Given the description of an element on the screen output the (x, y) to click on. 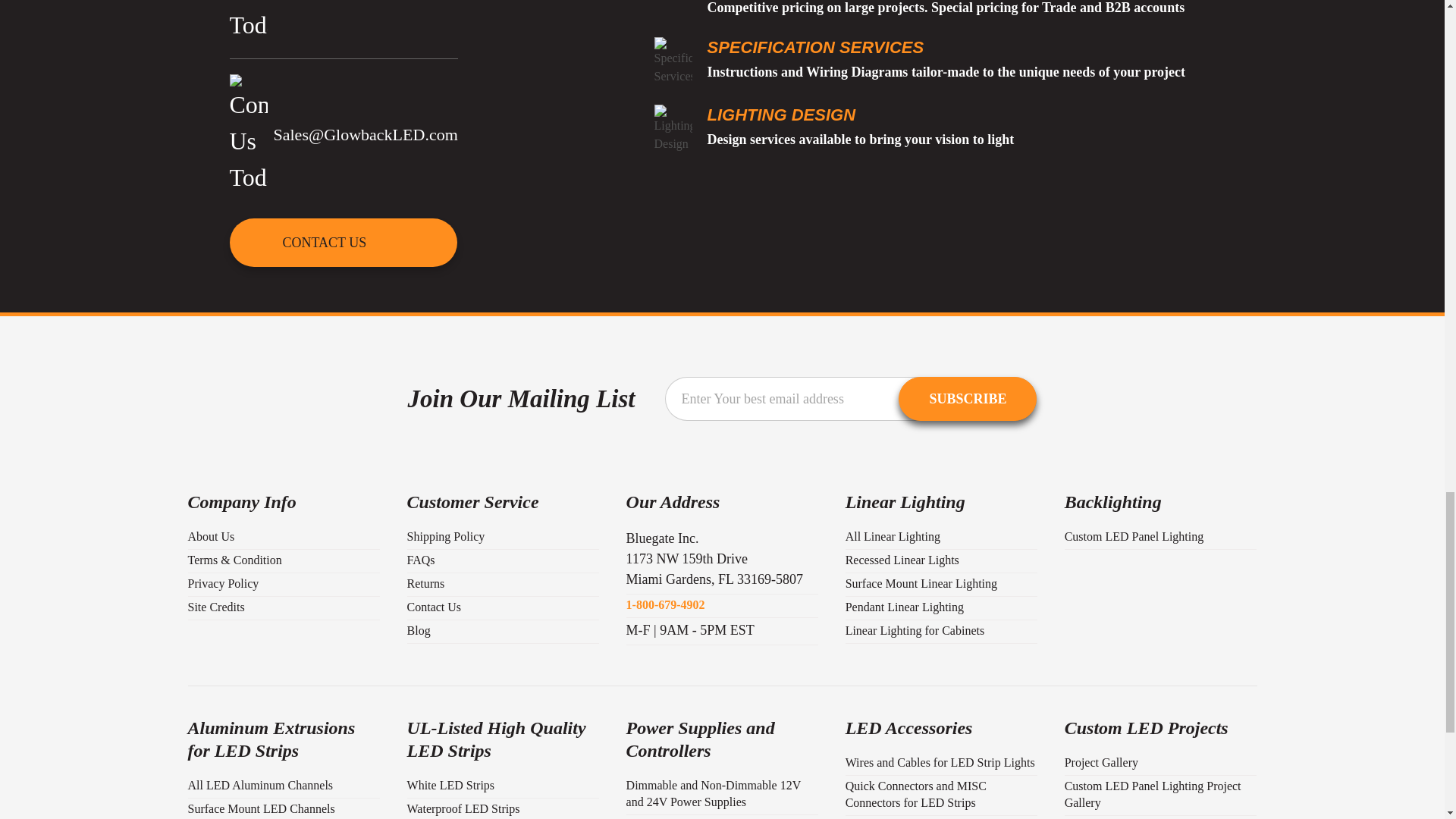
Subscribe (967, 398)
Discounts (672, 2)
